Given the description of an element on the screen output the (x, y) to click on. 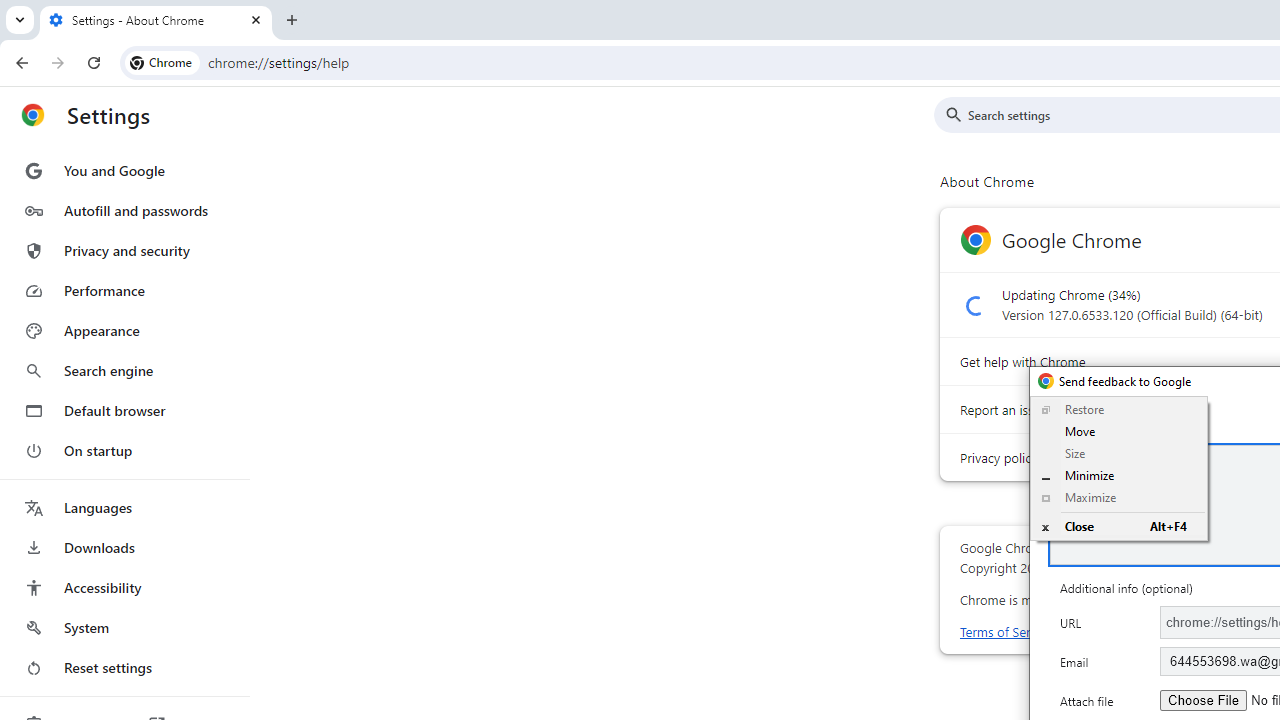
Downloads (124, 547)
Appearance (124, 331)
Autofill and passwords (124, 210)
You and Google (124, 170)
Languages (124, 507)
Settings - About Chrome (156, 20)
Move (1118, 431)
Privacy and security (124, 250)
